Given the description of an element on the screen output the (x, y) to click on. 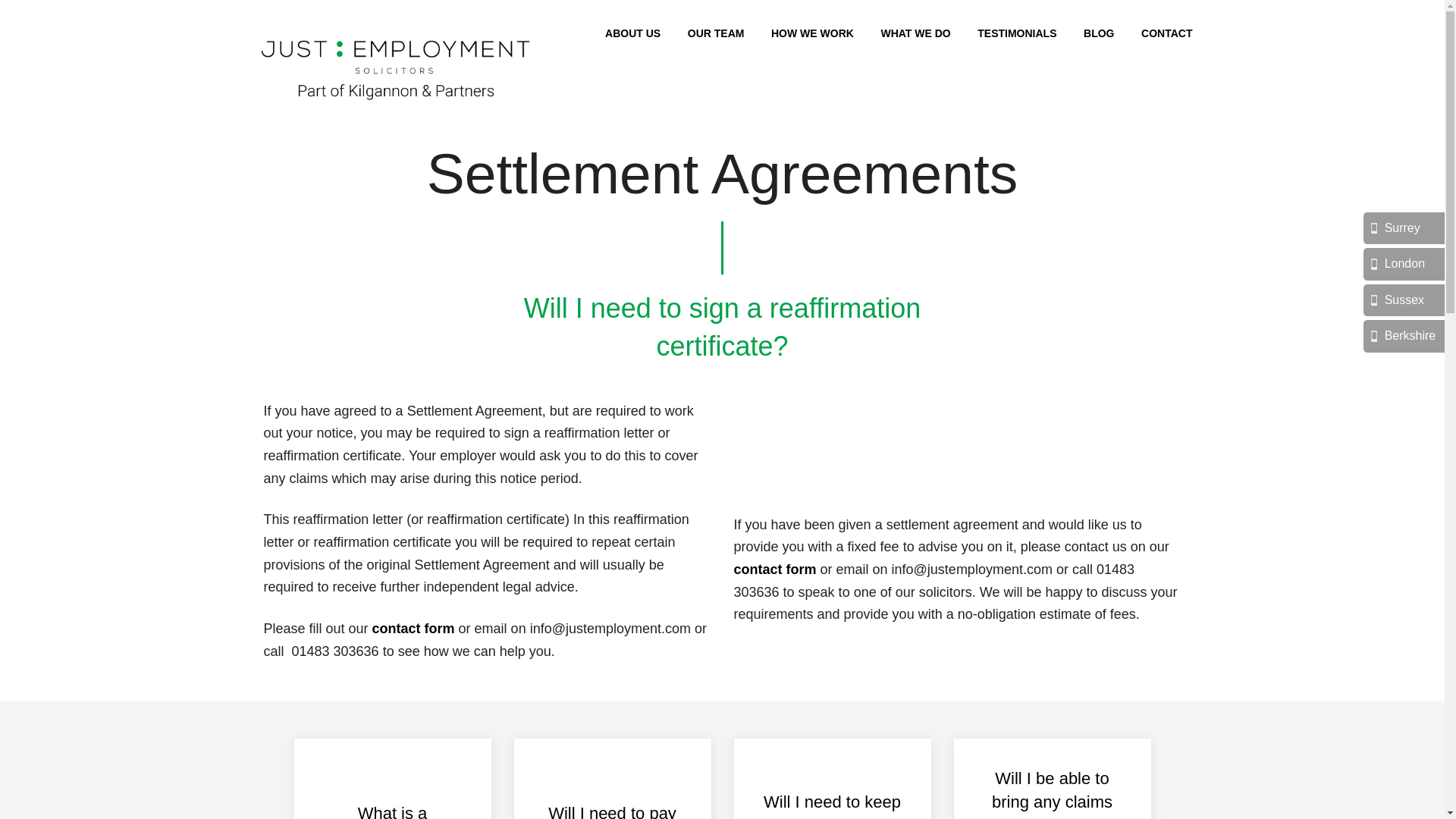
ABOUT US (633, 33)
What is a Settlement Agreement? (392, 778)
WHAT WE DO (915, 33)
CONTACT (1166, 33)
Will I need to pay tax on the settlement sum? (612, 778)
ReviewSolicitors (884, 457)
BLOG (1098, 33)
Will I need to keep the Settlement Agreement confidential? (832, 778)
OUR TEAM (715, 33)
TESTIMONIALS (1016, 33)
HOW WE WORK (812, 33)
